Given the description of an element on the screen output the (x, y) to click on. 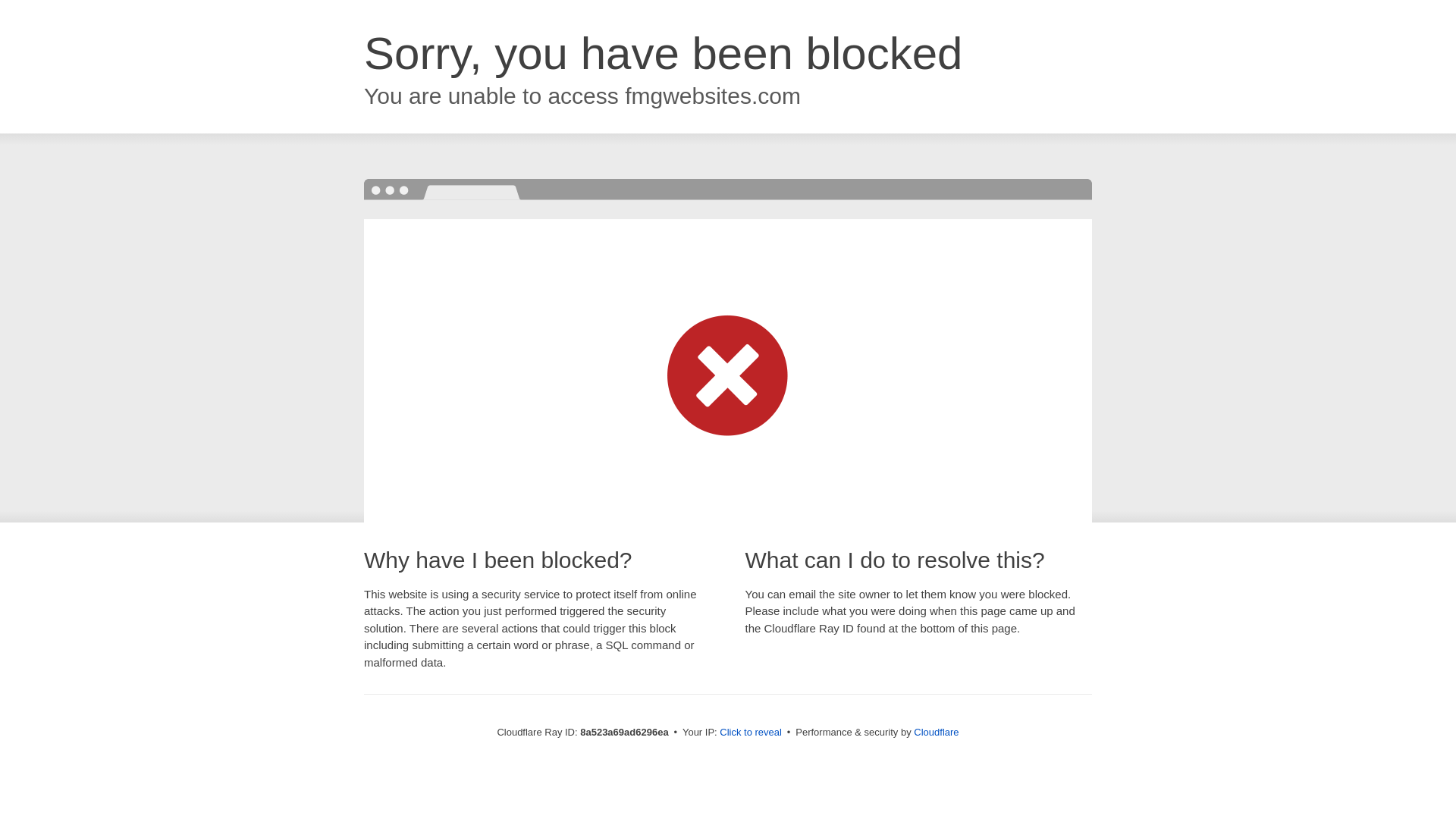
Click to reveal (750, 732)
Cloudflare (936, 731)
